Given the description of an element on the screen output the (x, y) to click on. 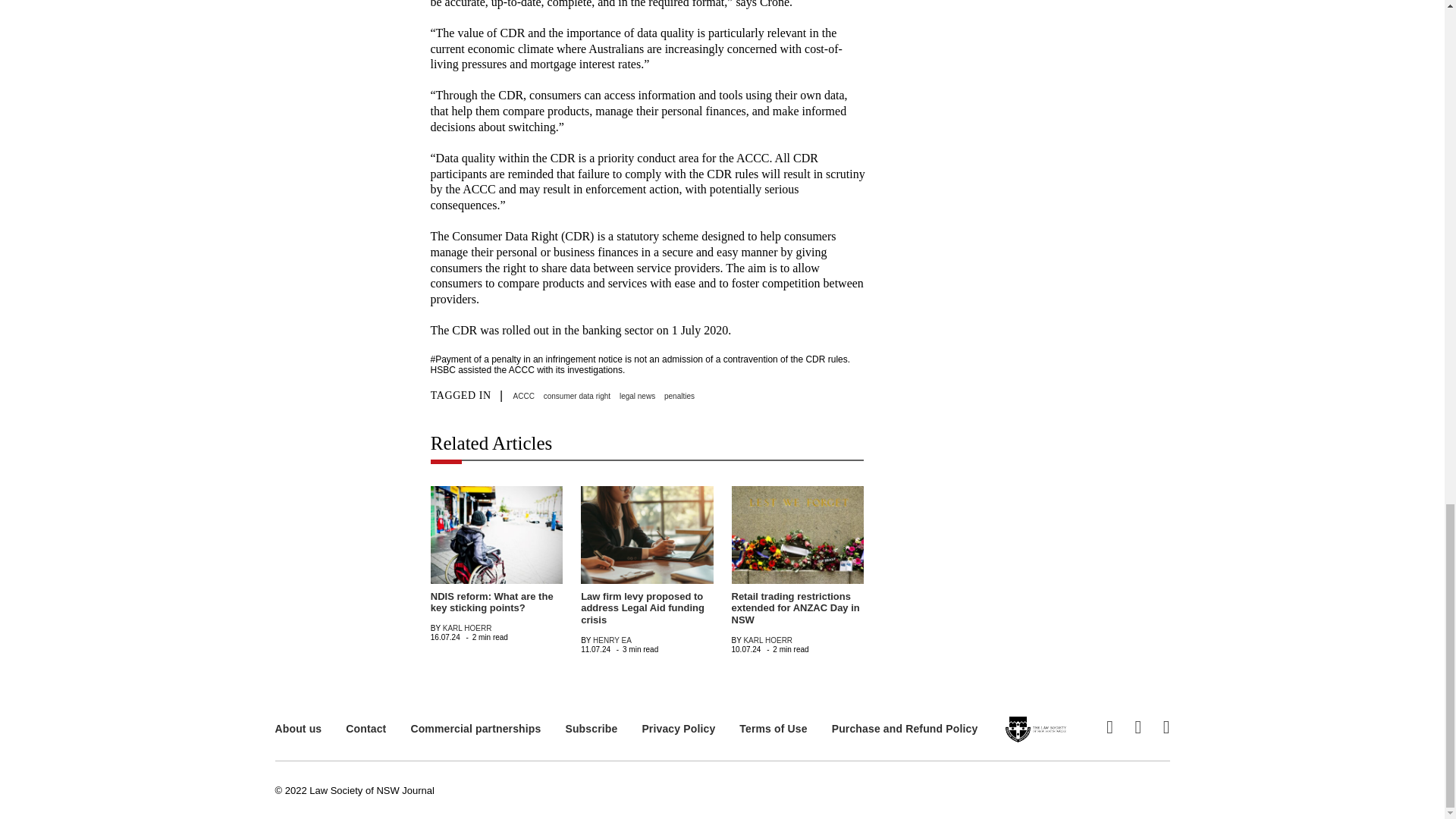
Posts by Henry Ea (611, 640)
Posts by Karl Hoerr (767, 640)
Posts by Karl Hoerr (467, 628)
